Given the description of an element on the screen output the (x, y) to click on. 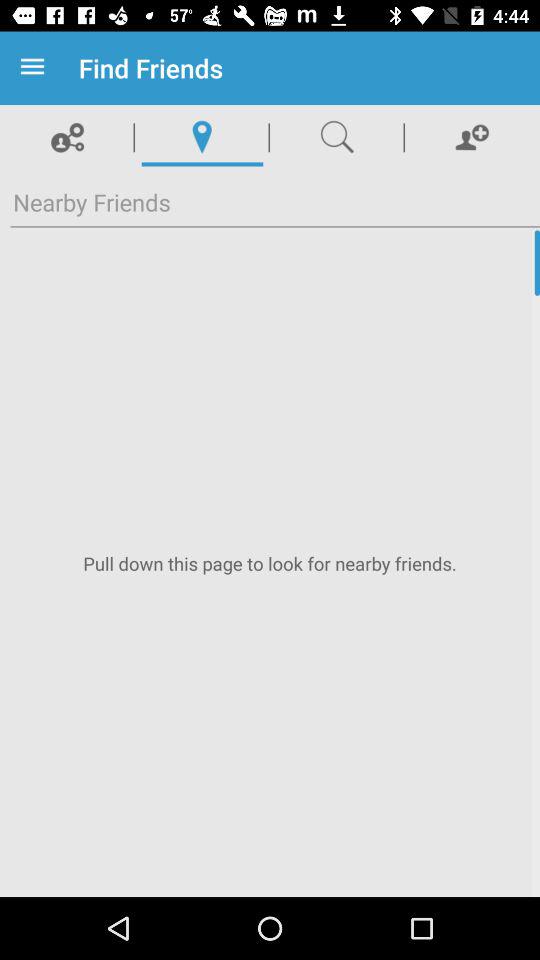
select item next to find friends item (36, 68)
